Given the description of an element on the screen output the (x, y) to click on. 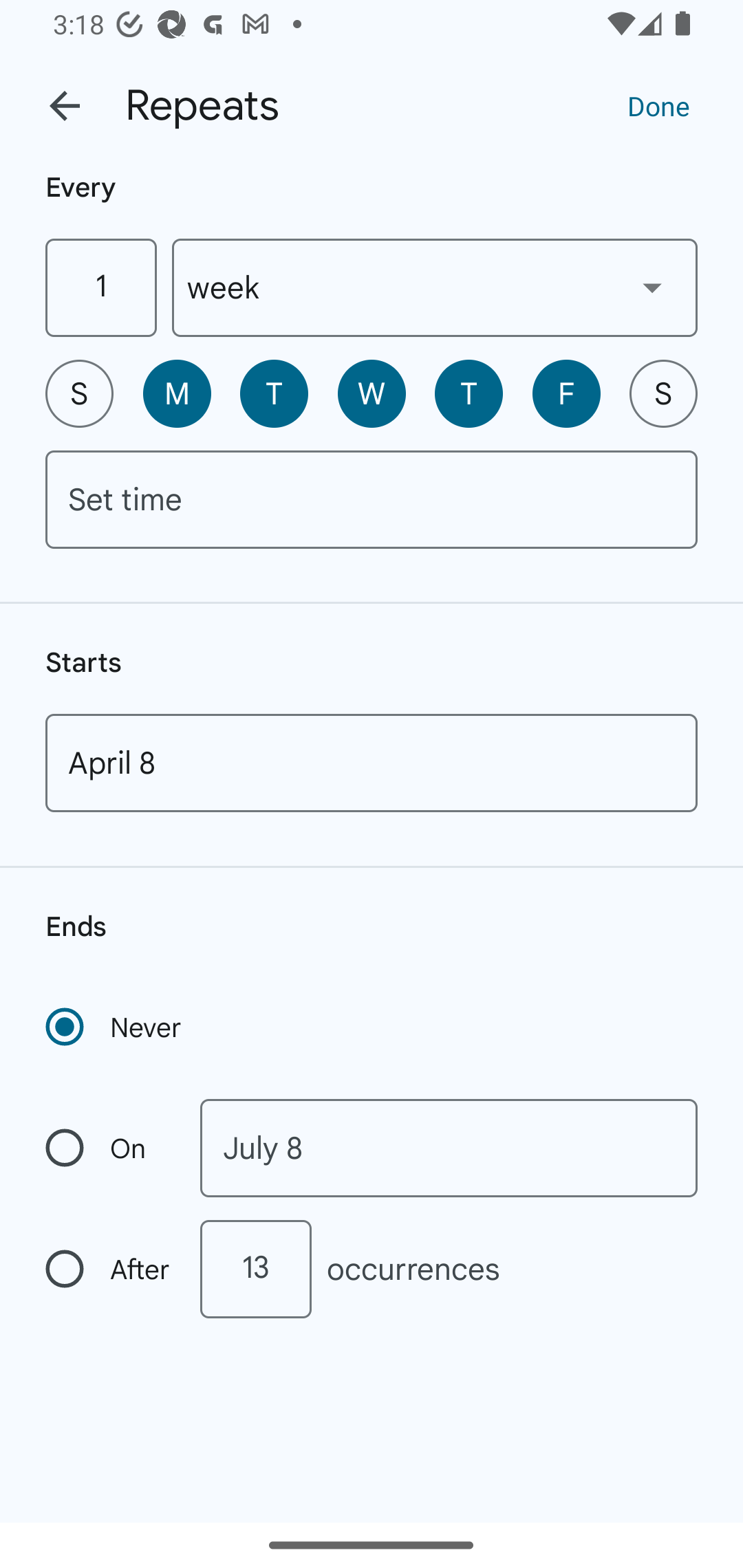
Back (64, 105)
Done (658, 105)
1 (100, 287)
week (434, 287)
Show dropdown menu (652, 286)
S Sunday (79, 393)
M Monday, selected (177, 393)
T Tuesday, selected (273, 393)
W Wednesday, selected (371, 393)
T Thursday, selected (468, 393)
F Friday, selected (566, 393)
S Saturday (663, 393)
Set time (371, 499)
April 8 (371, 762)
Never Recurrence never ends (115, 1026)
July 8 (448, 1148)
On Recurrence ends on a specific date (109, 1148)
13 (255, 1268)
